Given the description of an element on the screen output the (x, y) to click on. 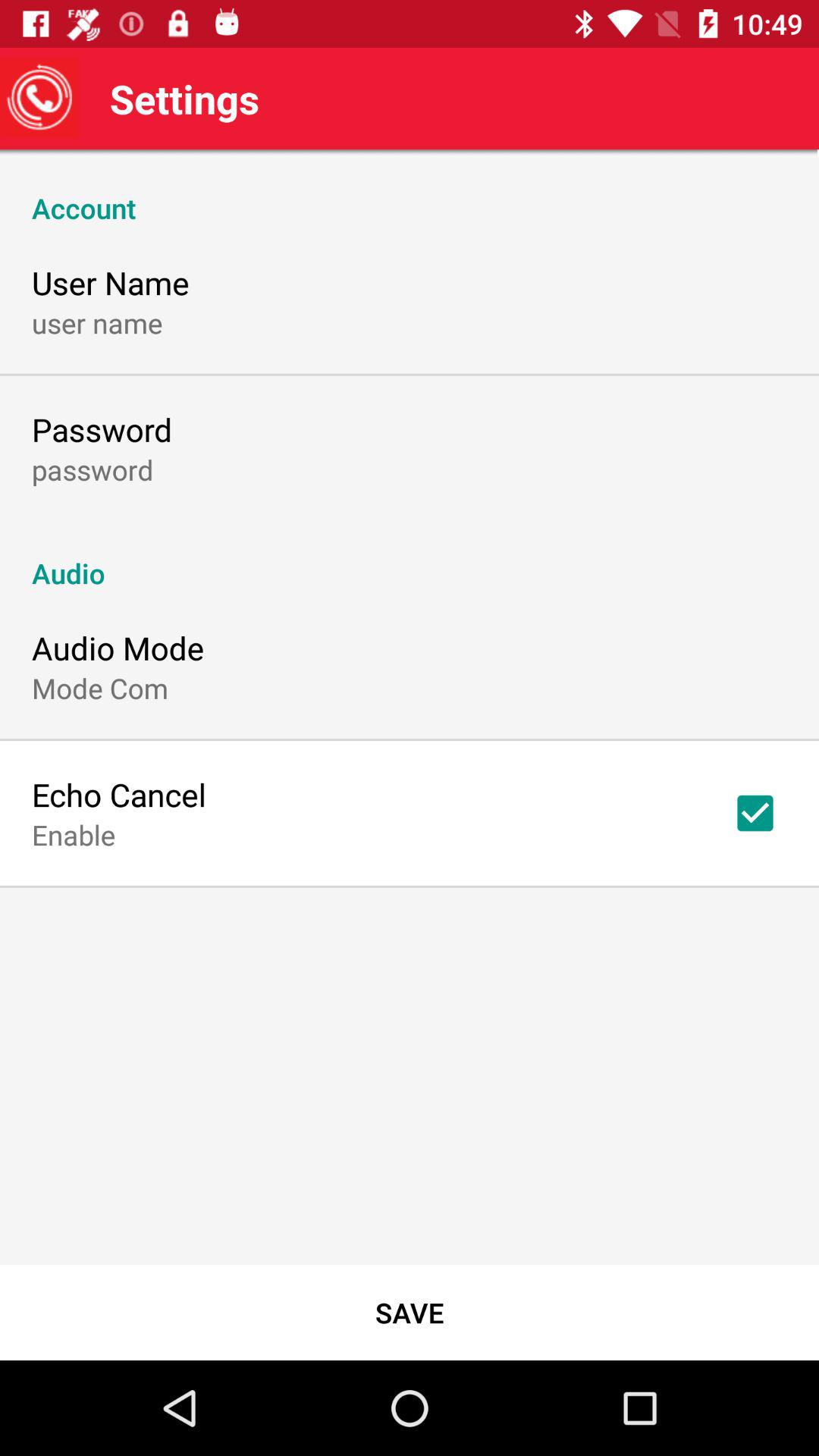
select the enable icon (73, 834)
